Given the description of an element on the screen output the (x, y) to click on. 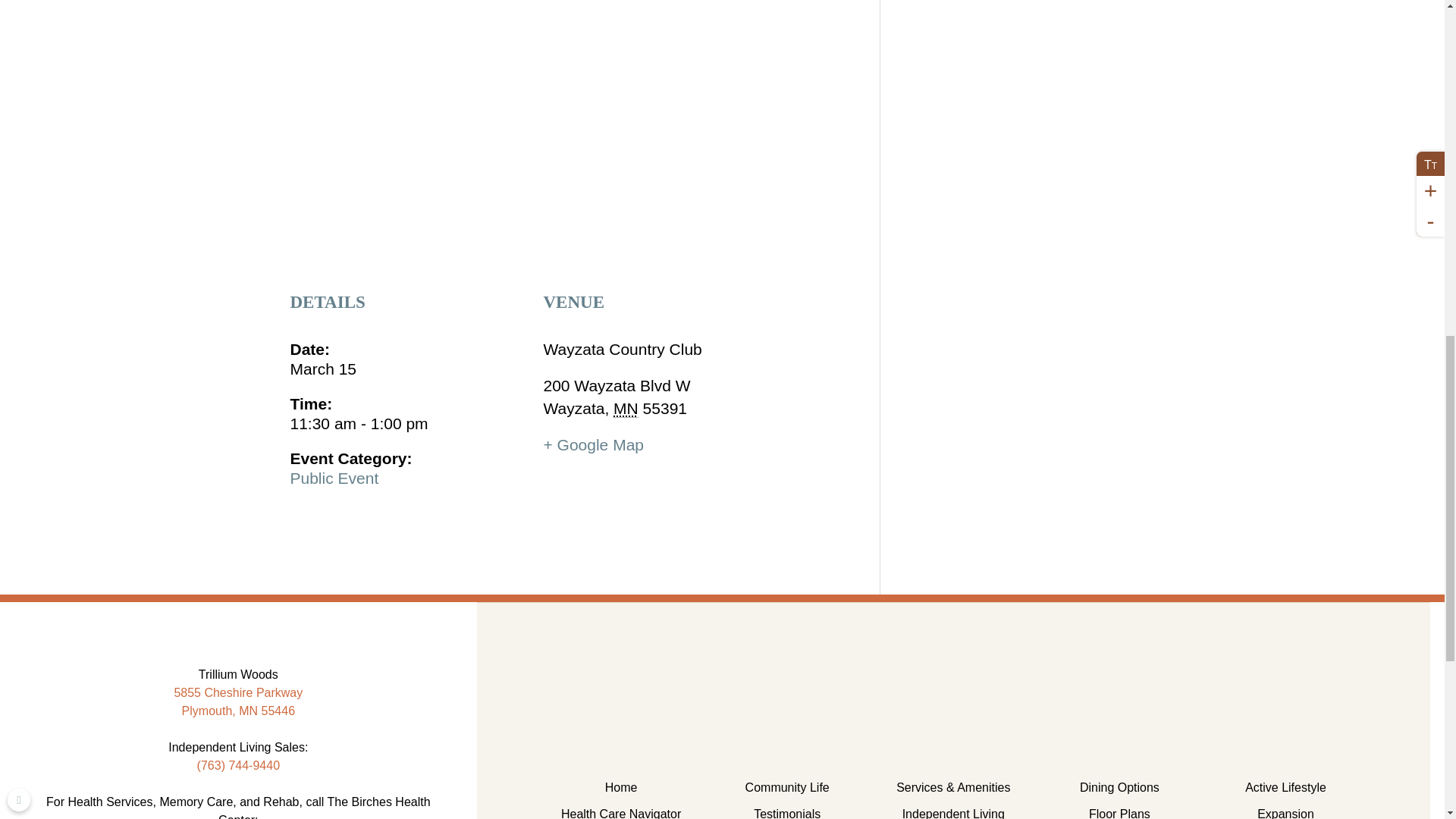
2024-03-15 (408, 332)
2024-03-15 (408, 387)
Click to view a Google Map (593, 407)
Minnesota (625, 372)
